Given the description of an element on the screen output the (x, y) to click on. 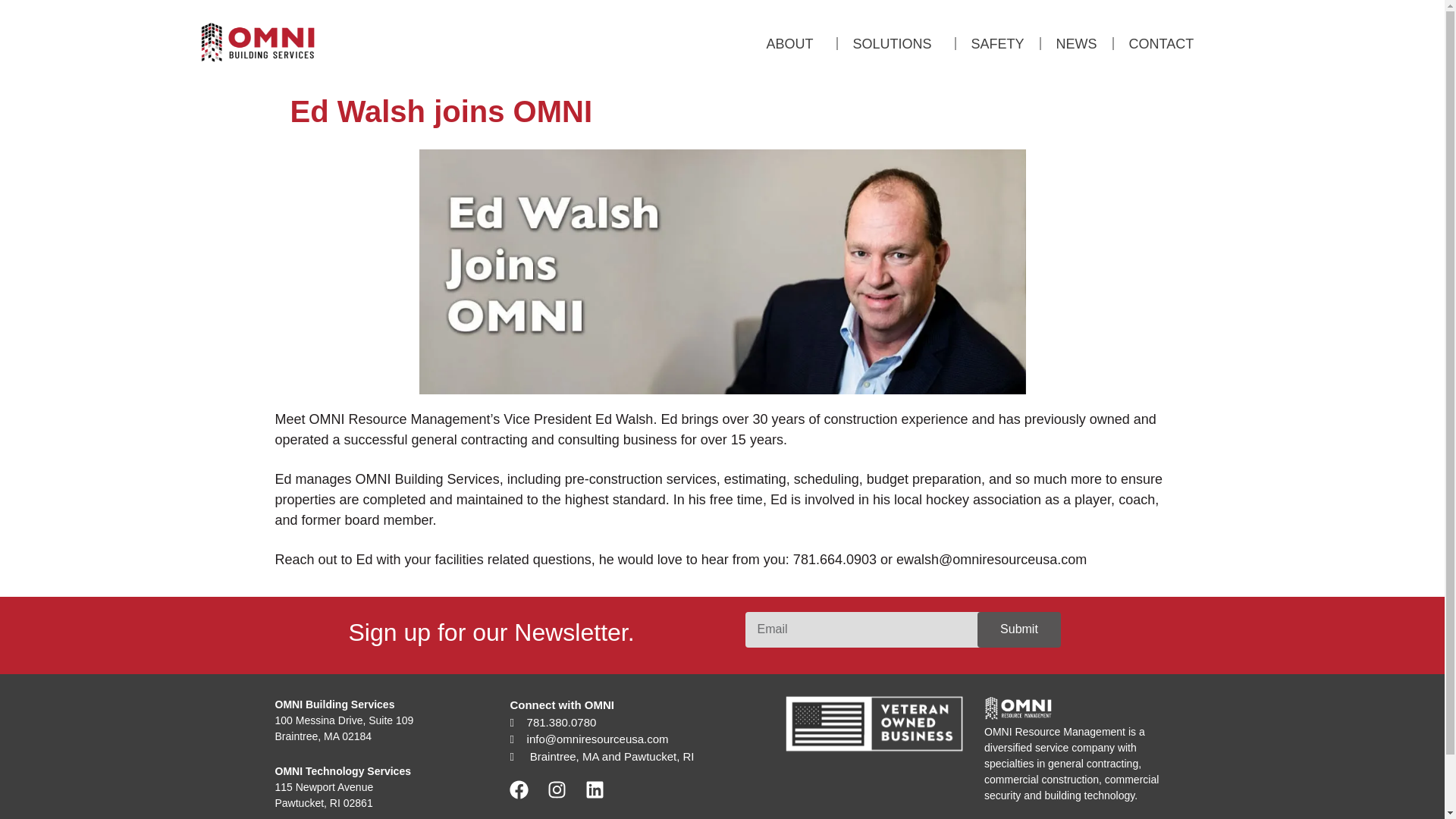
NEWS (1076, 42)
SOLUTIONS (896, 42)
CONTACT (1161, 42)
ABOUT (793, 42)
SAFETY (997, 42)
